Given the description of an element on the screen output the (x, y) to click on. 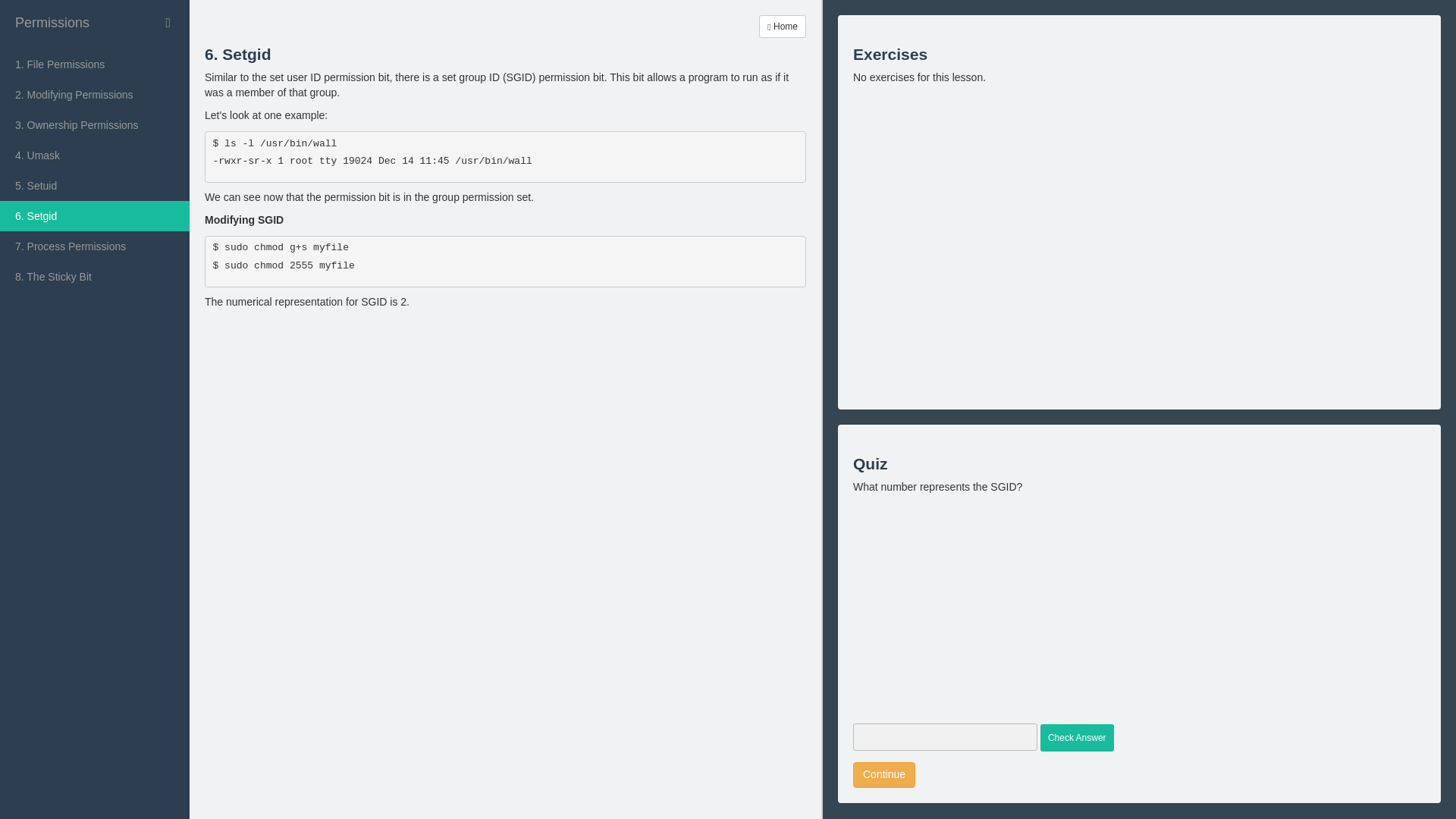
Check Answer (1077, 737)
Permissions (94, 22)
3. Ownership Permissions (94, 124)
8. The Sticky Bit (94, 276)
Check Answer (1077, 737)
Home (782, 26)
2. Modifying Permissions (94, 94)
Continue (884, 774)
1. File Permissions (94, 64)
5. Setuid (94, 185)
4. Umask (94, 155)
6. Setgid (94, 215)
7. Process Permissions (94, 245)
